Given the description of an element on the screen output the (x, y) to click on. 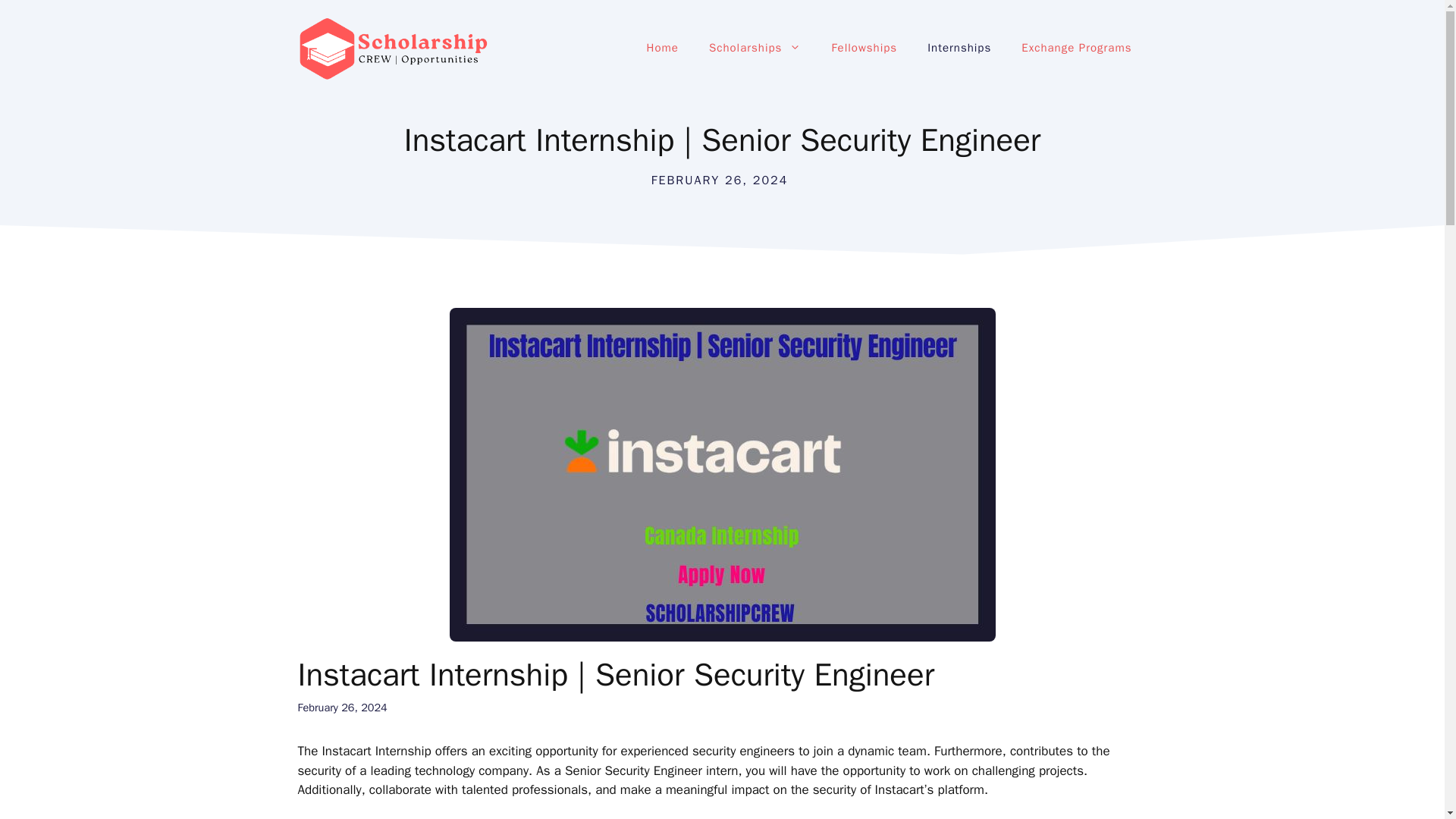
Fellowships (863, 47)
Scholarship Crew (391, 48)
Scholarship Crew (391, 47)
Home (662, 47)
Exchange Programs (1076, 47)
Scholarships (754, 47)
Internships (959, 47)
